Given the description of an element on the screen output the (x, y) to click on. 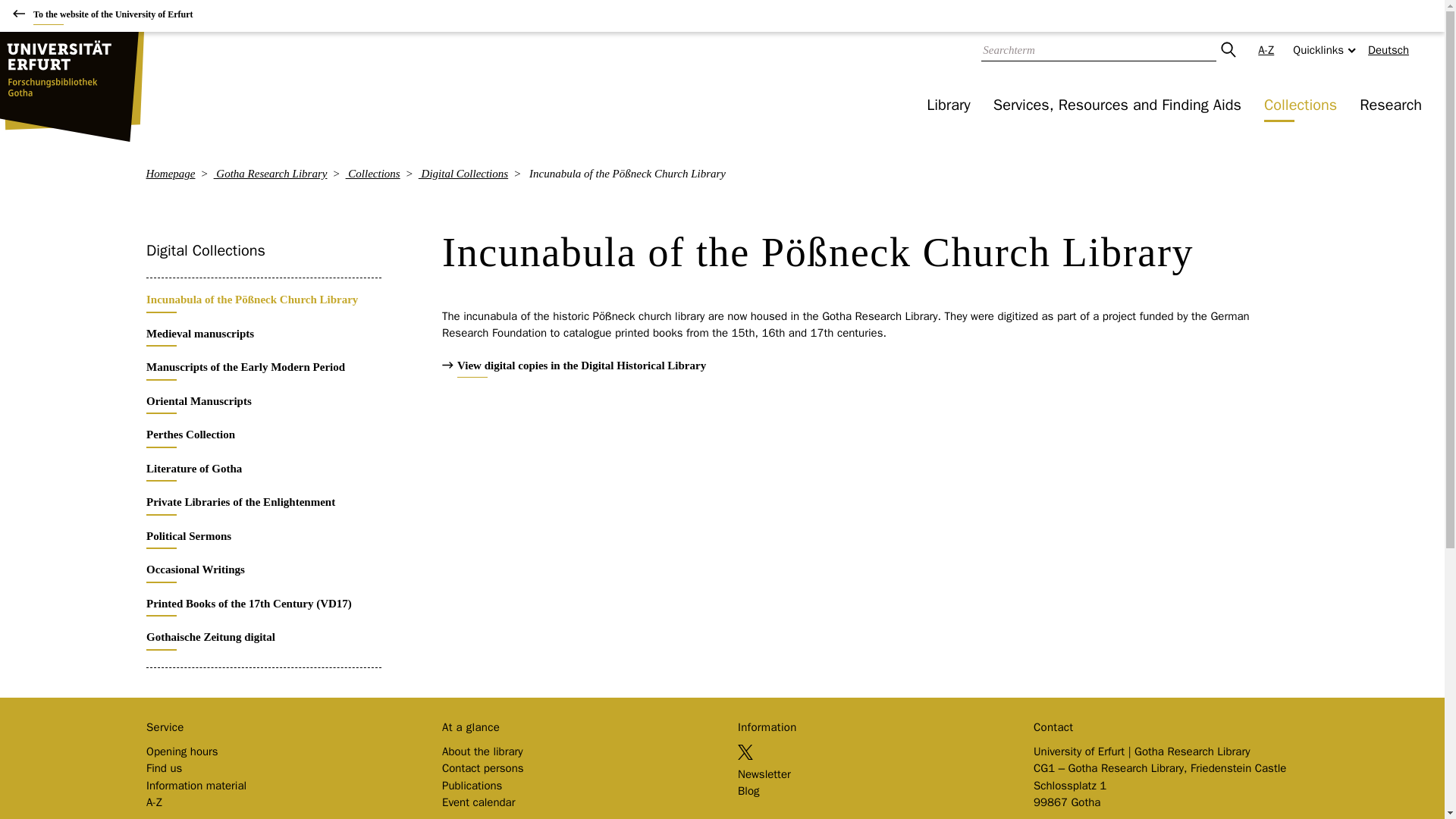
To the website of the University of Erfurt (107, 16)
Deutsch (1389, 49)
Library (948, 105)
A-Z (1265, 49)
Submit (1227, 49)
Quicklinks (1318, 50)
A-Z Register (1265, 49)
To the website of the University of Erfurt (107, 16)
